Given the description of an element on the screen output the (x, y) to click on. 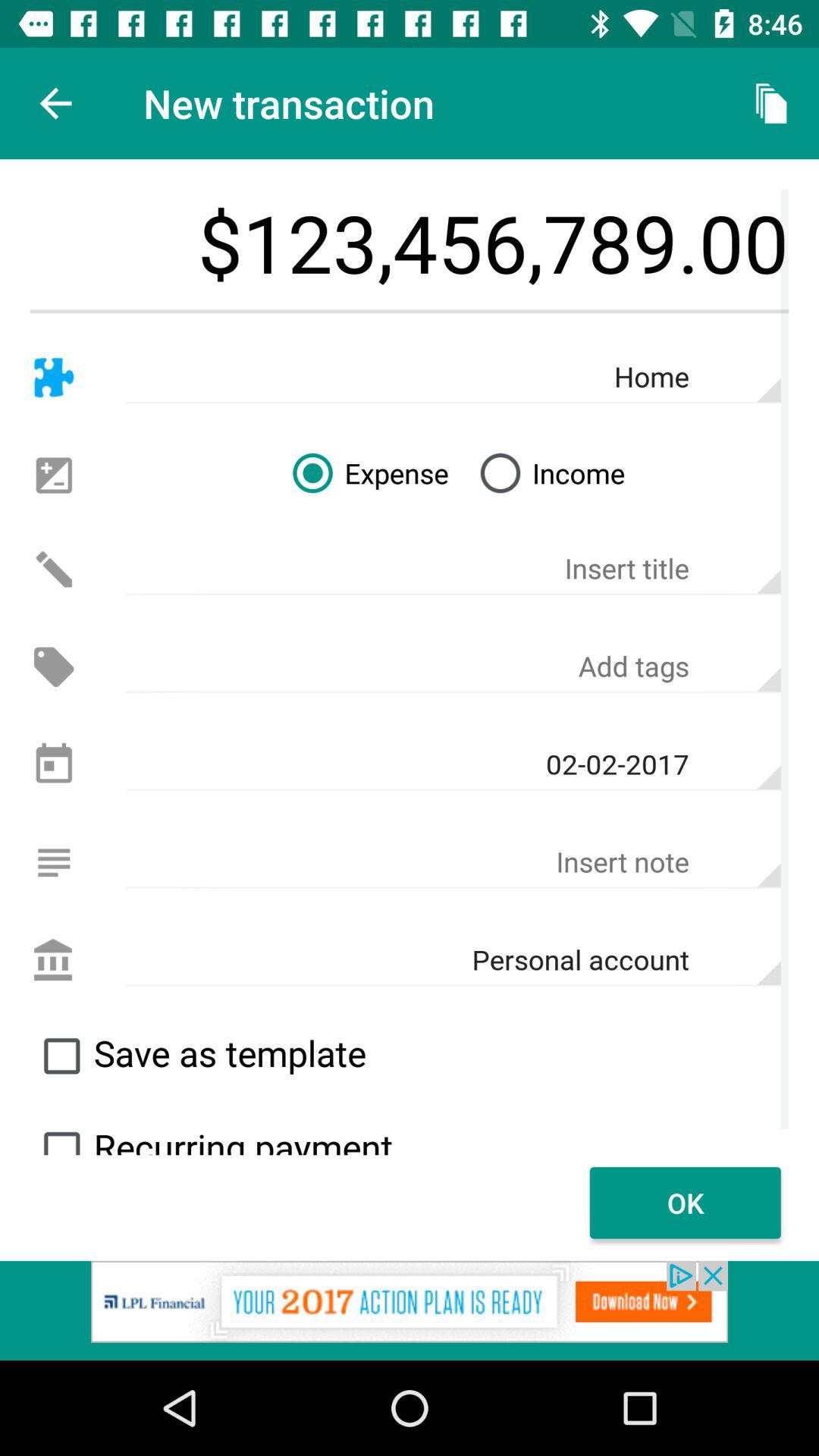
click edit option (53, 569)
